Given the description of an element on the screen output the (x, y) to click on. 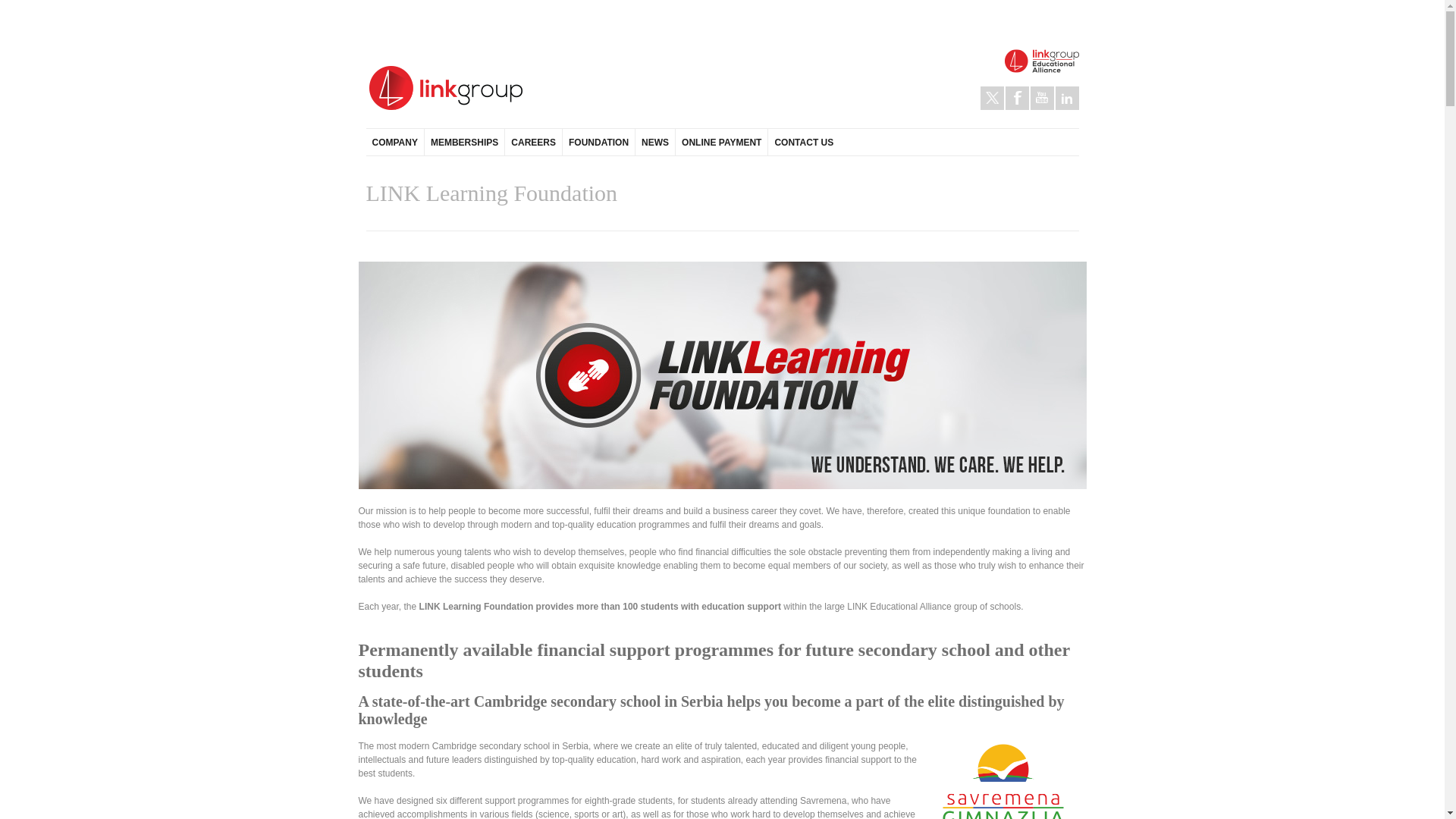
FOUNDATION (598, 141)
MEMBERSHIPS (463, 141)
COMPANY (394, 141)
CAREERS (532, 141)
CONTACT US (803, 141)
Facebook (1017, 97)
Home (444, 88)
Youtube (1040, 97)
LinkedIn (1066, 97)
ONLINE PAYMENT (721, 141)
Twitter (991, 97)
NEWS (654, 141)
